Given the description of an element on the screen output the (x, y) to click on. 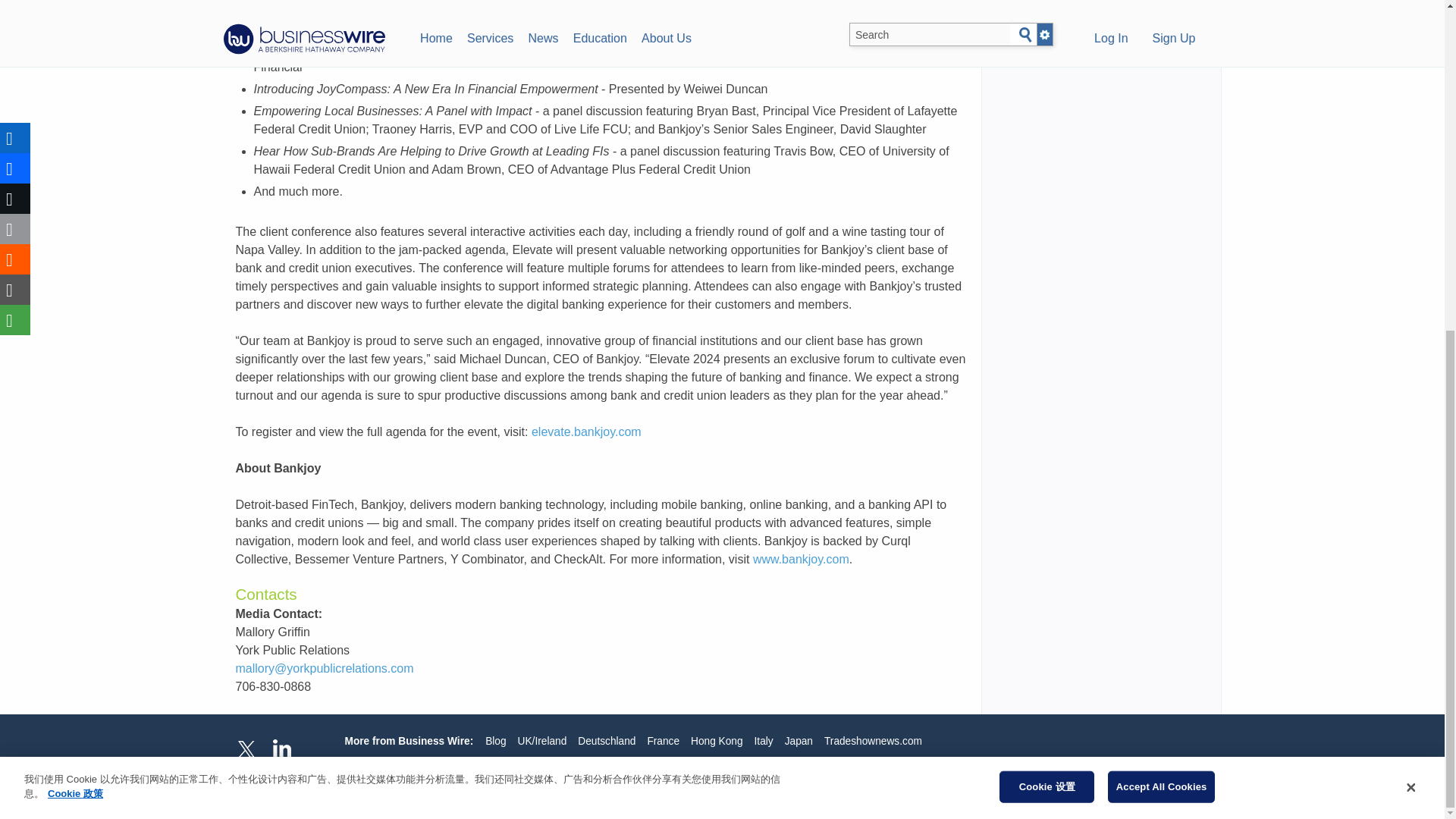
elevate.bankjoy.com (586, 431)
www.bankjoy.com (800, 558)
